Given the description of an element on the screen output the (x, y) to click on. 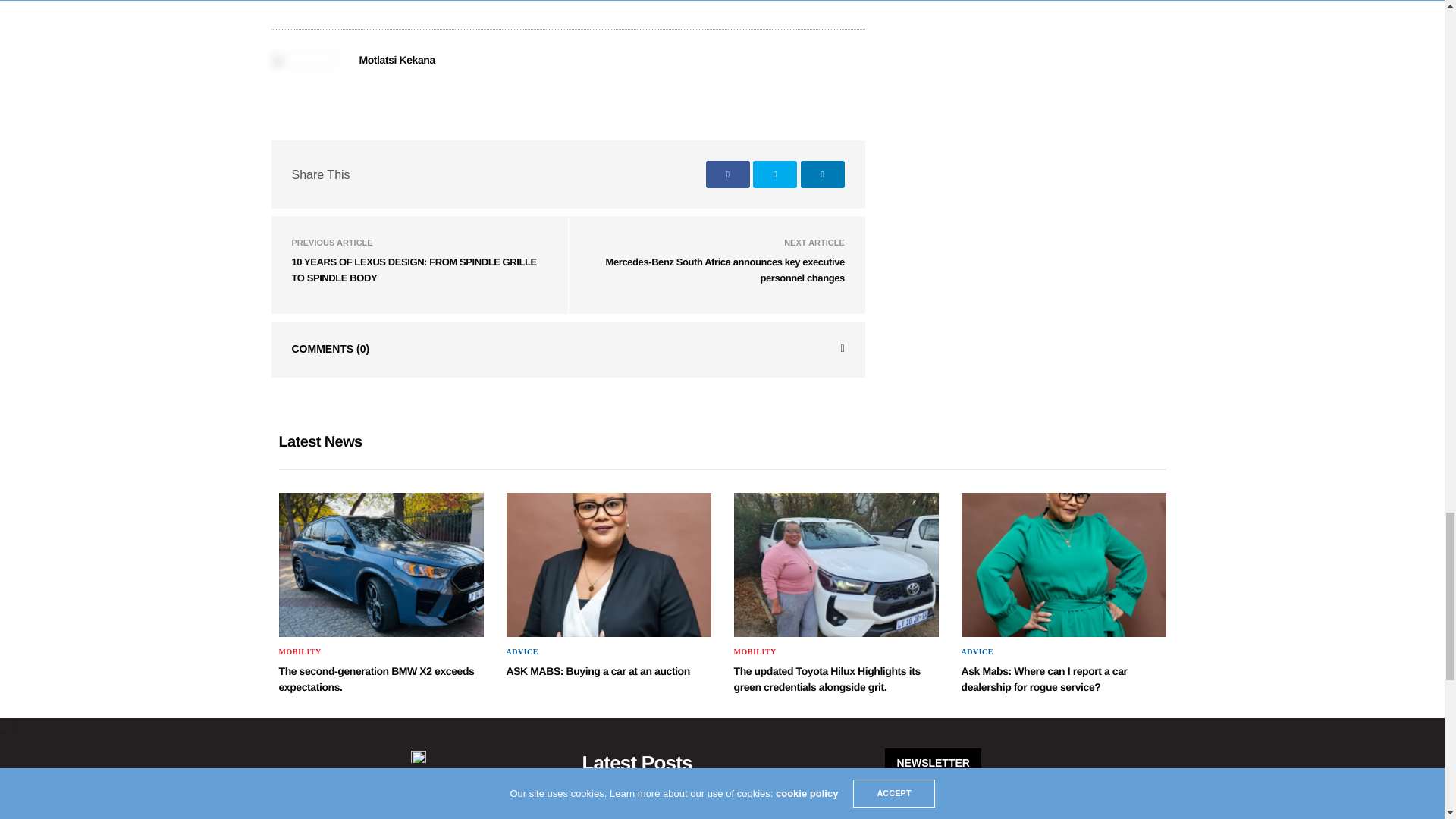
Mobility (300, 652)
The second-generation BMW X2 exceeds expectations. (376, 678)
Advice (522, 652)
The second-generation BMW X2 exceeds expectations. (381, 565)
Mobility (754, 652)
Advice (976, 652)
ASK MABS: Buying a car at an auction (598, 671)
ASK MABS: Buying a car at an auction (608, 565)
